Given the description of an element on the screen output the (x, y) to click on. 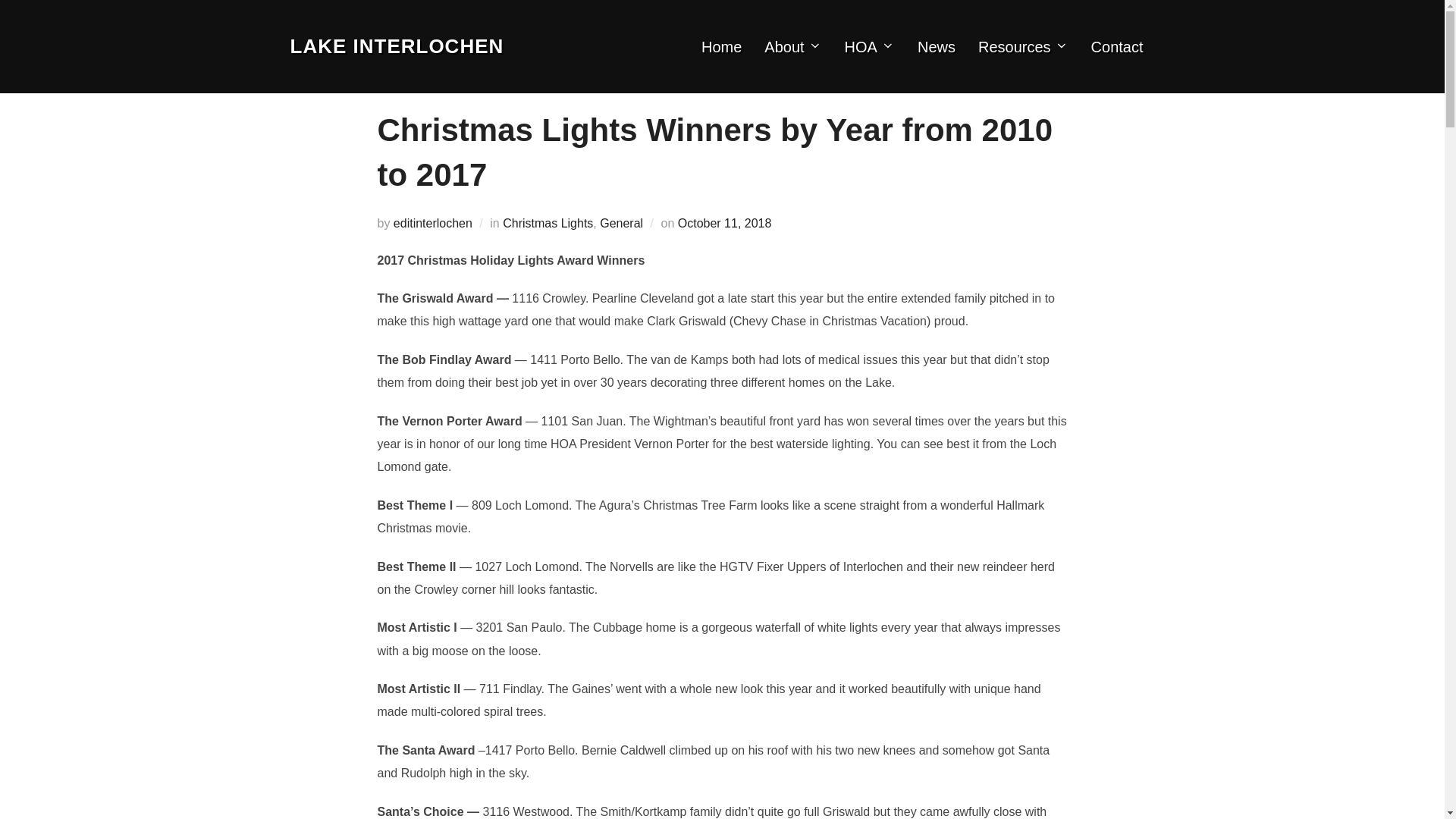
News (936, 46)
About (792, 46)
Home (721, 46)
Resources (1023, 46)
A Texas Community (396, 46)
LAKE INTERLOCHEN (396, 46)
HOA (869, 46)
